Given the description of an element on the screen output the (x, y) to click on. 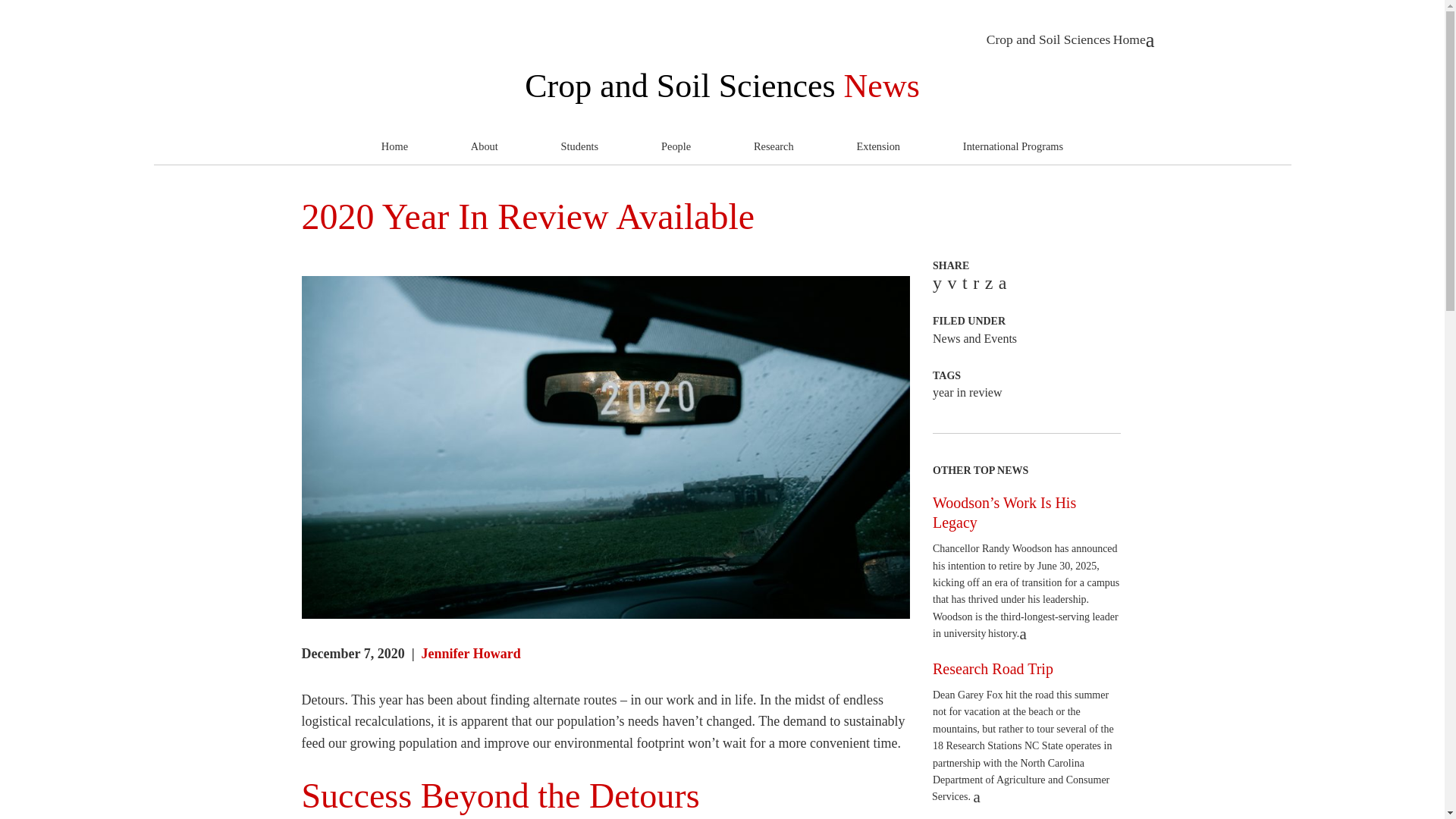
About (484, 146)
Posts by Jennifer Howard (471, 653)
Students (579, 146)
Crop and Soil Sciences Home (1070, 38)
International Programs (1013, 146)
People (675, 146)
News and Events (974, 338)
Research (773, 146)
Crop and Soil Sciences News (722, 85)
Extension (878, 146)
Home (394, 146)
